Given the description of an element on the screen output the (x, y) to click on. 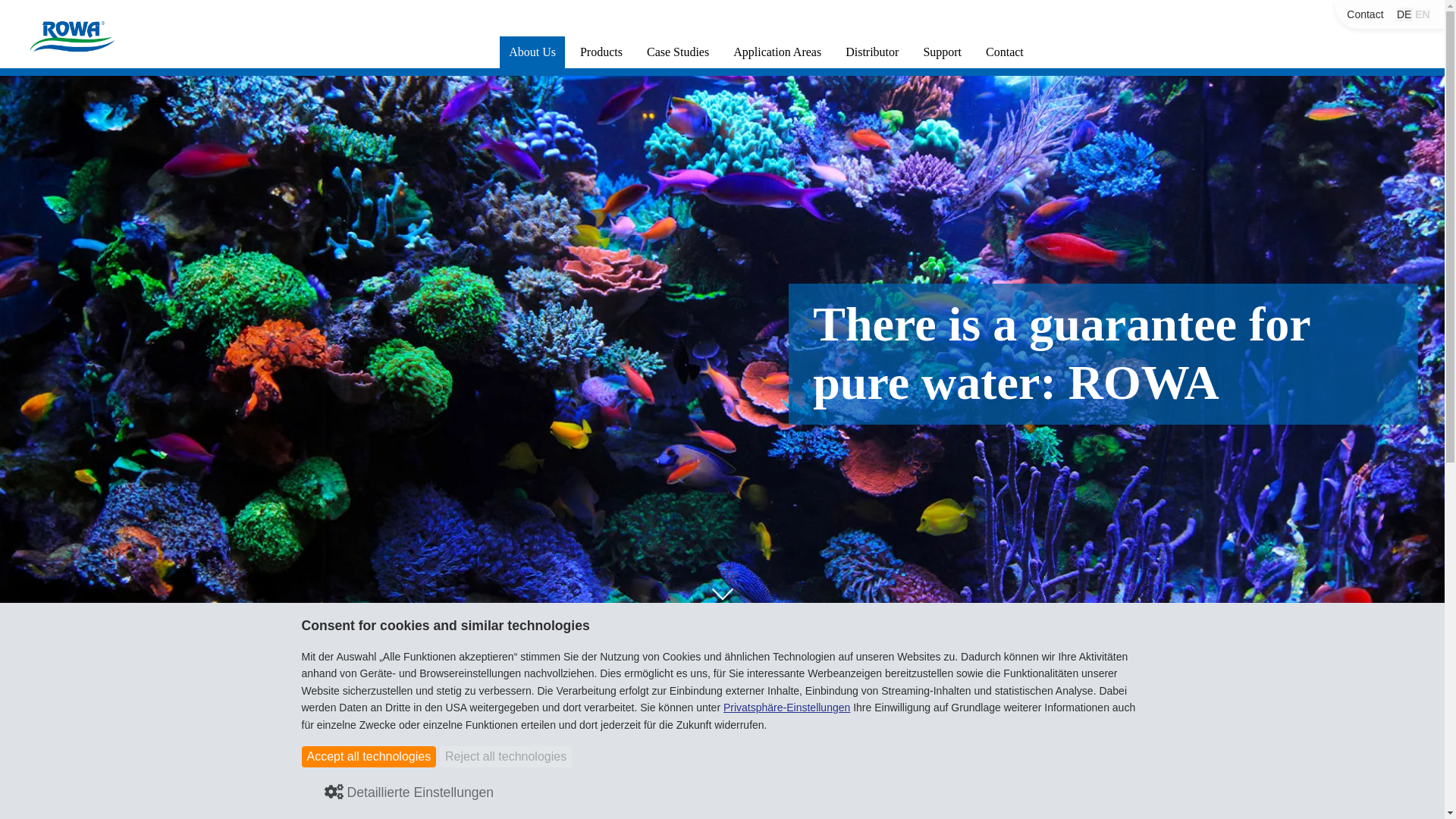
Reject all technologies (505, 756)
Accept all technologies (368, 756)
Detaillierte Einstellungen (409, 793)
